Given the description of an element on the screen output the (x, y) to click on. 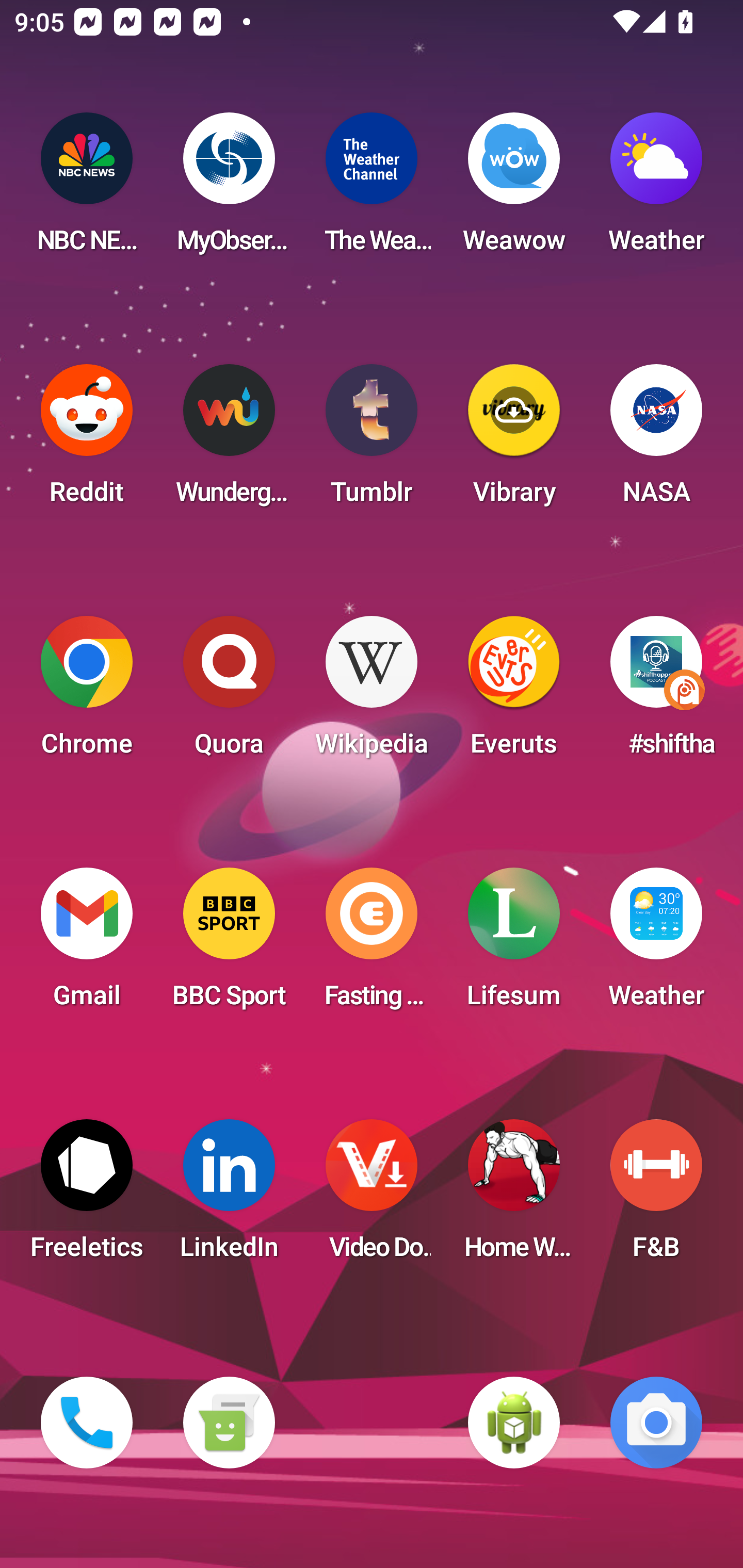
NBC NEWS (86, 188)
MyObservatory (228, 188)
The Weather Channel (371, 188)
Weawow (513, 188)
Weather (656, 188)
Reddit (86, 440)
Wunderground (228, 440)
Tumblr (371, 440)
Vibrary (513, 440)
NASA (656, 440)
Chrome (86, 692)
Quora (228, 692)
Wikipedia (371, 692)
Everuts (513, 692)
#shifthappens in the Digital Workplace Podcast (656, 692)
Gmail (86, 943)
BBC Sport (228, 943)
Fasting Coach (371, 943)
Lifesum (513, 943)
Weather (656, 943)
Freeletics (86, 1195)
LinkedIn (228, 1195)
Video Downloader & Ace Player (371, 1195)
Home Workout (513, 1195)
F&B (656, 1195)
Phone (86, 1422)
Messaging (228, 1422)
WebView Browser Tester (513, 1422)
Camera (656, 1422)
